Given the description of an element on the screen output the (x, y) to click on. 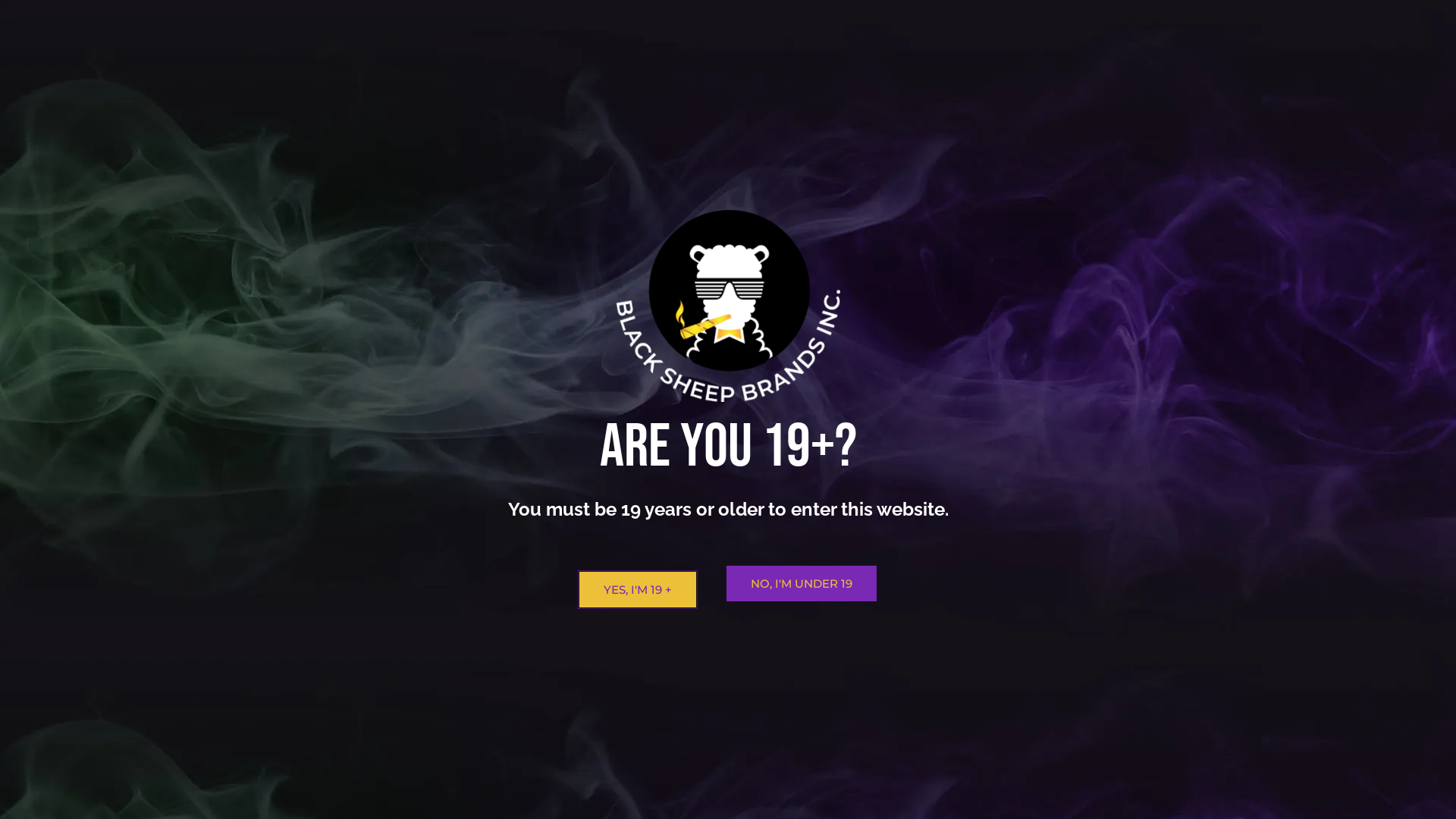
Accessories Element type: text (991, 412)
Bongs/Waterpipes Element type: text (436, 111)
Shop Element type: text (753, 76)
Choice Leaf Element type: text (1021, 737)
Contact Element type: text (998, 76)
Hemp Wraps Element type: text (883, 111)
Blazy Susan Element type: text (1022, 709)
Filters & Tips Element type: text (1023, 518)
Bundles Element type: text (527, 111)
Rolling Trays Element type: text (1088, 111)
SEARCH Element type: text (1115, 265)
Silicone Element type: text (1009, 655)
OUT OF STOCK Element type: text (346, 433)
Brands Element type: text (977, 685)
Cleaning Supplies Element type: text (694, 111)
Hand Pipes Element type: text (797, 111)
YES, I'M 19 + Element type: text (637, 589)
Keychains Element type: text (1016, 600)
Fillers & Rollers Element type: text (1030, 491)
RAW 10oz Mason Jar With Smell Proof Cozy Element type: text (509, 547)
0 Element type: text (1209, 111)
Account Element type: text (1091, 76)
Apparel Element type: text (346, 111)
Grinders Element type: text (1011, 546)
Doob Tube Element type: text (1019, 791)
NO, I'M UNDER 19 Element type: text (801, 583)
OUT OF STOCK Element type: text (836, 716)
Rolling Papers Element type: text (983, 111)
RAW 16oz Mason Jar With Smell Proof Cozy Element type: text (672, 547)
Brands We Offer Element type: text (875, 76)
My Weigh X RAW Tray Scale Element type: text (346, 547)
Home Element type: text (671, 76)
Cool Things Element type: text (1021, 464)
RAW 3 Pack Mason Jars With Smell Proof Cozy Element type: text (836, 547)
Containers & Scales Element type: text (1043, 436)
Crop Kingz Element type: text (1018, 764)
Dab Rigs Element type: text (596, 111)
Bongs/Waterpipes Element type: text (1011, 631)
Humidifier Element type: text (1016, 573)
Odor Eliminators Element type: text (1078, 145)
Pre Rolled Cones Element type: text (956, 145)
Accessories Element type: text (264, 111)
